Given the description of an element on the screen output the (x, y) to click on. 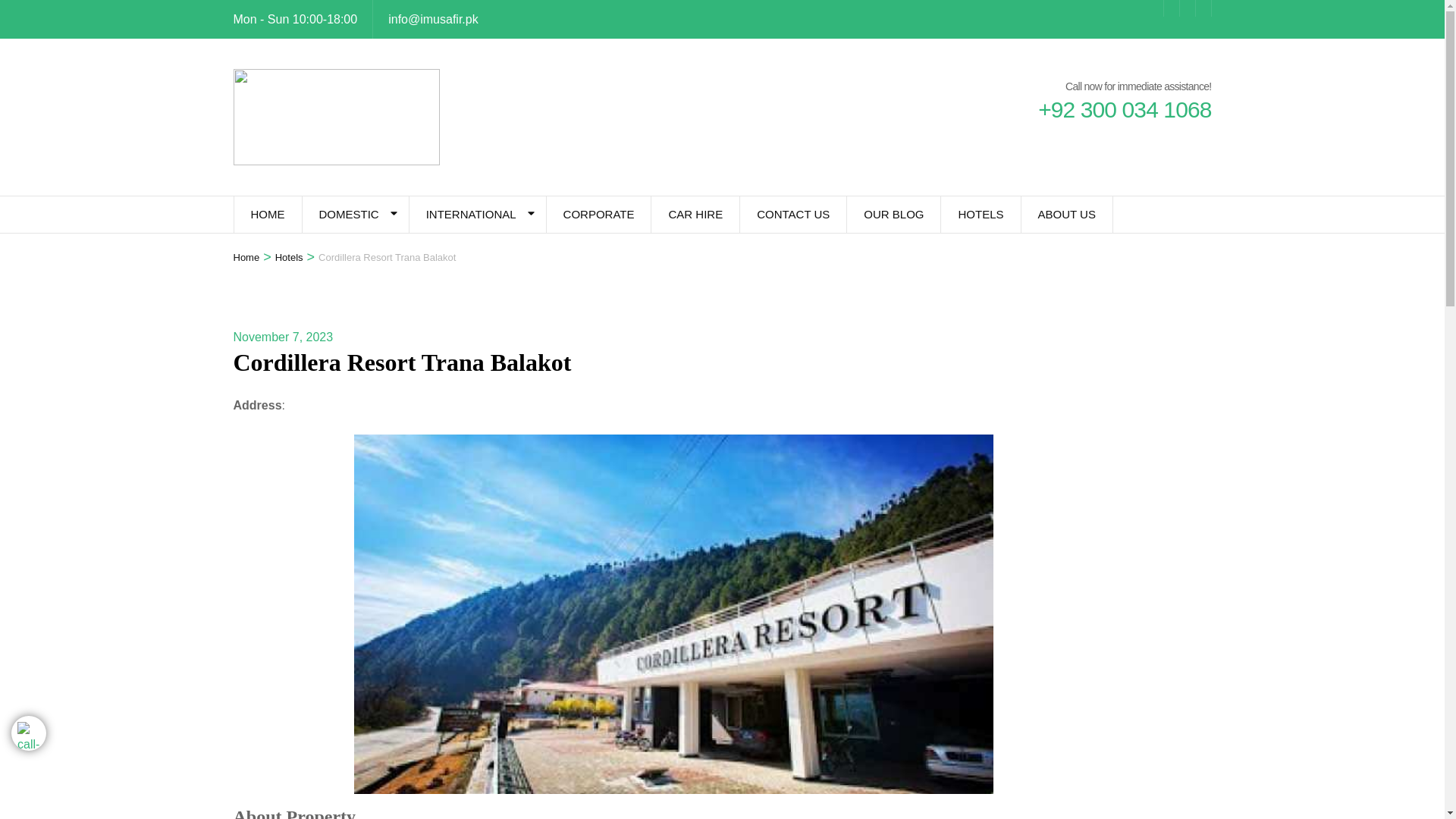
CAR HIRE (694, 214)
OUR BLOG (893, 214)
INTERNATIONAL (470, 214)
HOME (266, 214)
CORPORATE (598, 214)
CONTACT US (792, 214)
HOTELS (980, 214)
DOMESTIC (347, 214)
ABOUT US (1066, 214)
